Given the description of an element on the screen output the (x, y) to click on. 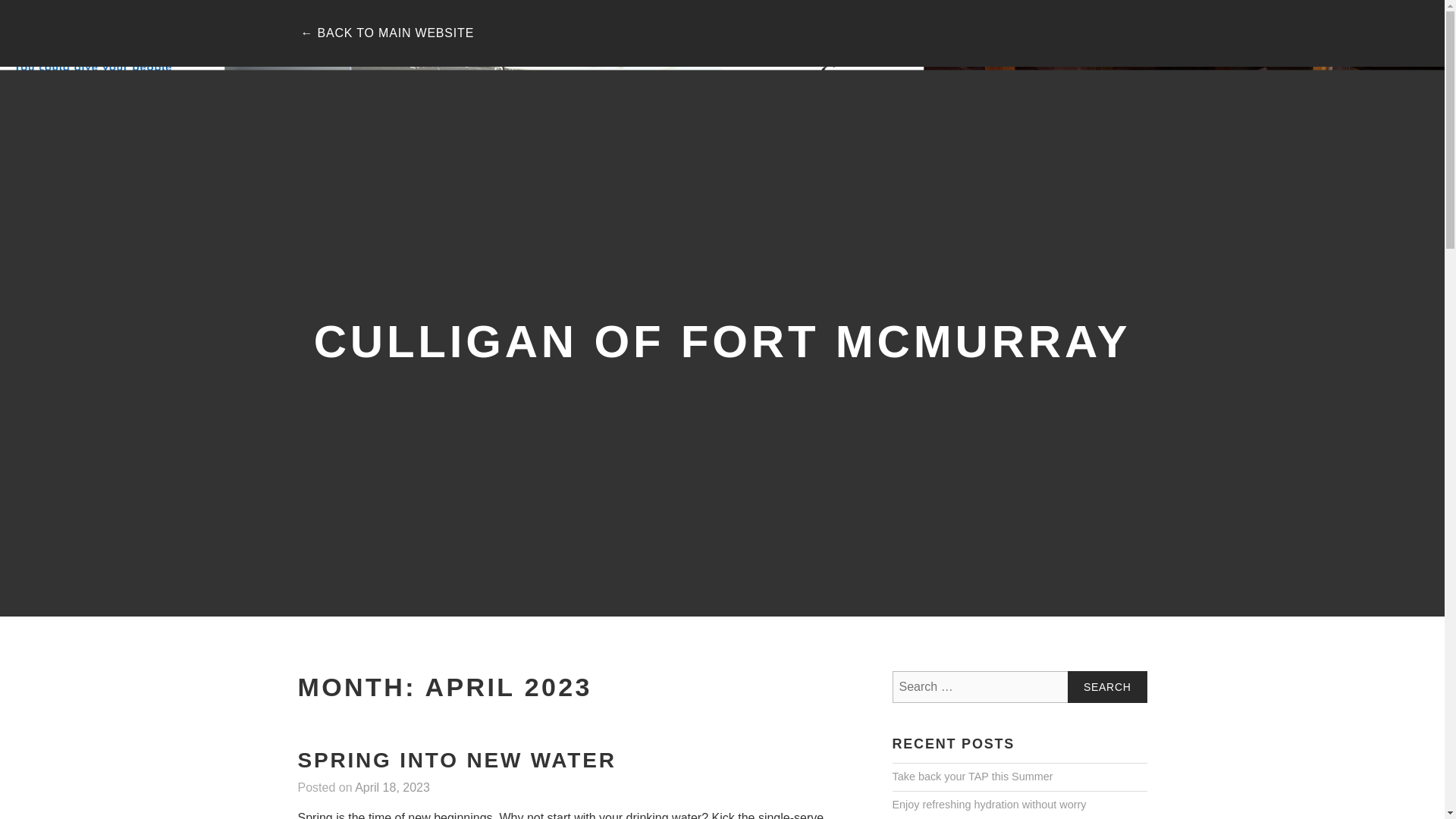
CULLIGAN OF FORT MCMURRAY (722, 340)
Take back your TAP this Summer (971, 776)
April 18, 2023 (392, 788)
Enjoy refreshing hydration without worry (988, 805)
Search (1107, 686)
Search (1107, 686)
SPRING INTO NEW WATER (456, 760)
Search (1107, 686)
